Given the description of an element on the screen output the (x, y) to click on. 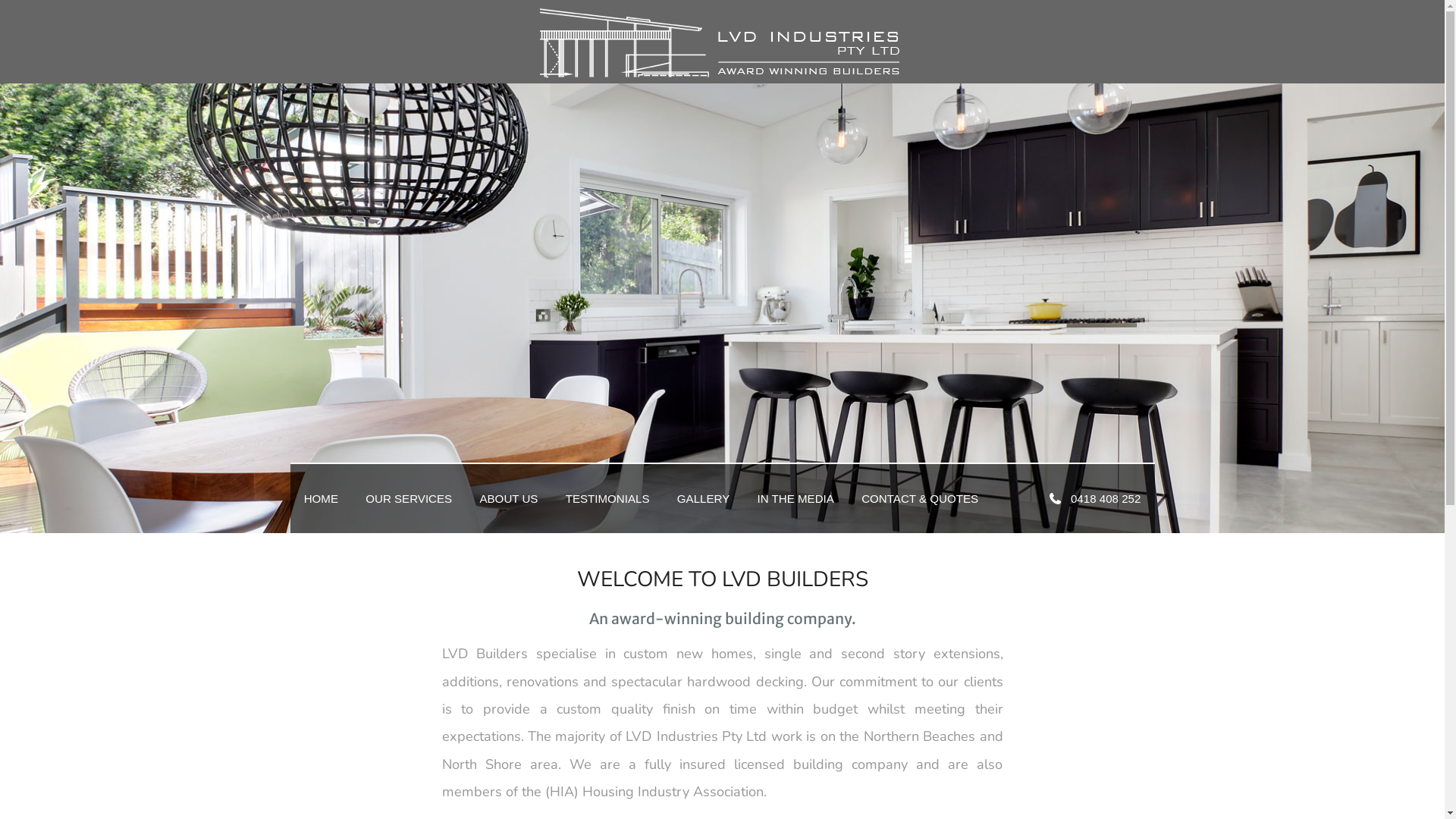
ABOUT US Element type: text (508, 496)
CONTACT & QUOTES Element type: text (919, 496)
GALLERY Element type: text (703, 496)
HOME Element type: text (320, 496)
IN THE MEDIA Element type: text (795, 496)
OUR SERVICES Element type: text (408, 496)
TESTIMONIALS Element type: text (607, 496)
Award Winning Northern Beaches Builders Element type: hover (721, 74)
